Given the description of an element on the screen output the (x, y) to click on. 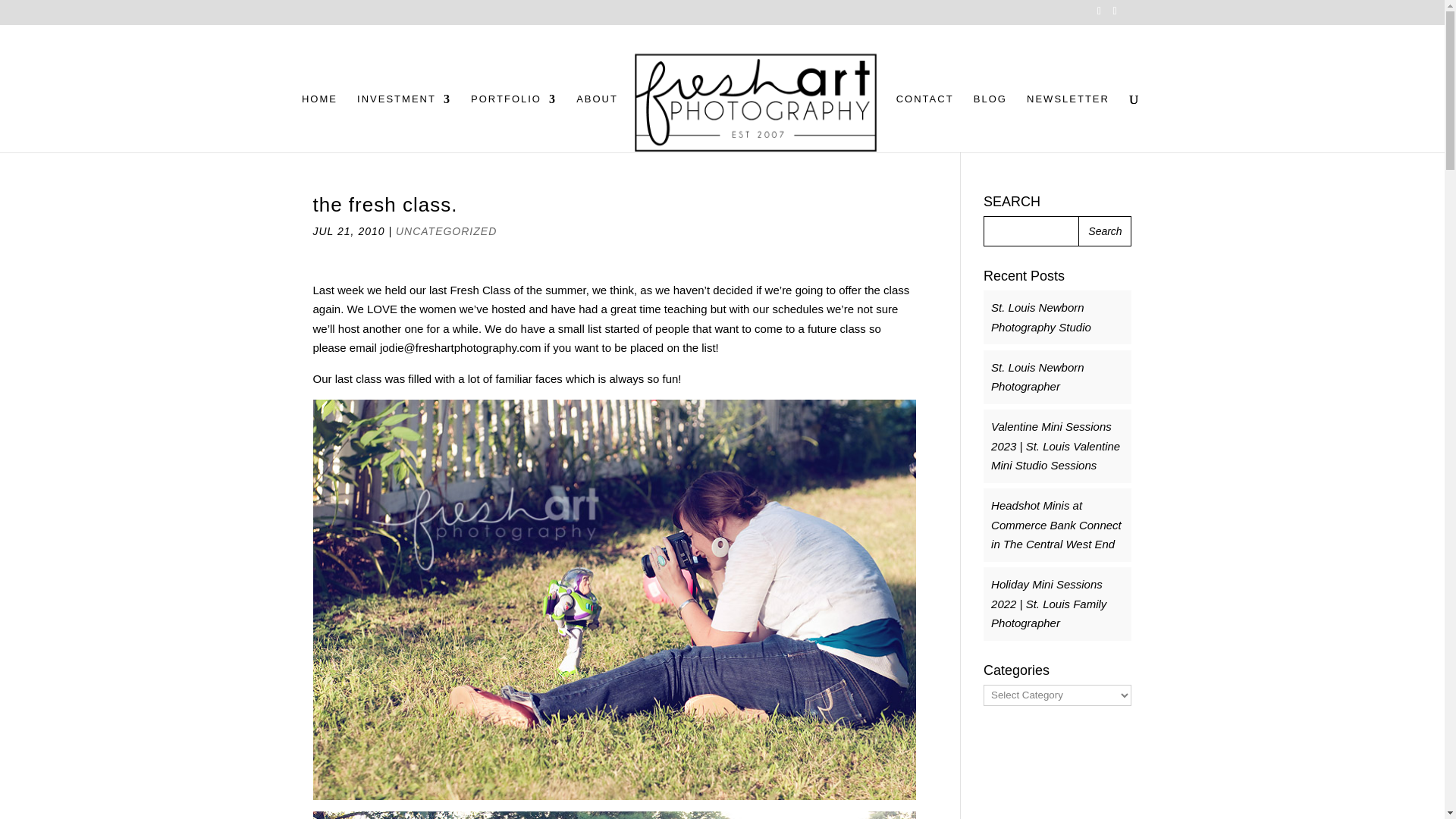
Search (1104, 231)
HOME (319, 123)
BLOG (990, 123)
INVESTMENT (403, 123)
NEWSLETTER (1067, 123)
CONTACT (924, 123)
ABOUT (596, 123)
PORTFOLIO (513, 123)
